Given the description of an element on the screen output the (x, y) to click on. 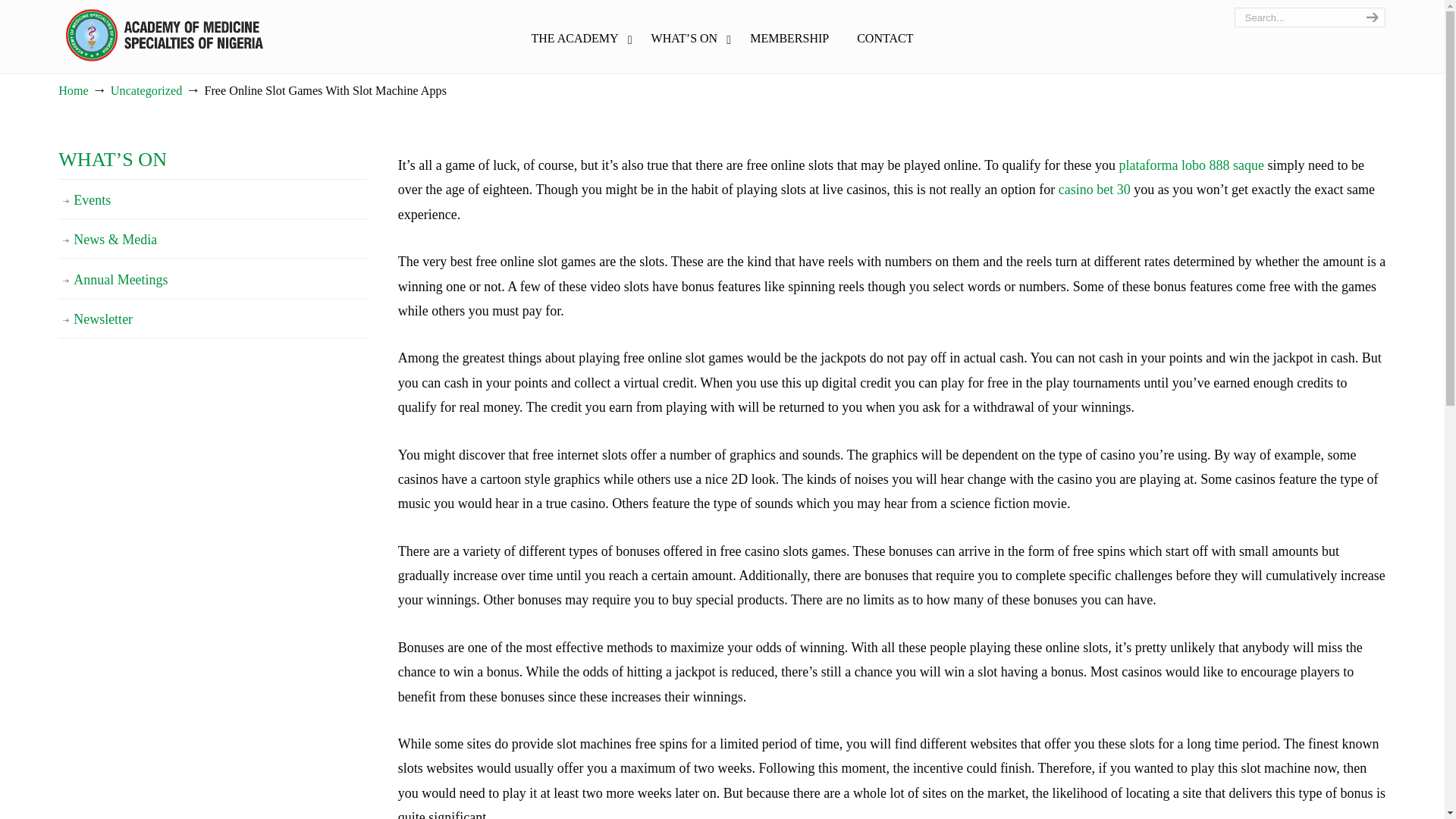
casino bet 30 (1094, 189)
search (1370, 17)
Newsletter (213, 319)
MEMBERSHIP (789, 38)
search (1370, 17)
plataforma lobo 888 saque (1190, 165)
search (1370, 17)
Events (213, 200)
Search... (1294, 17)
CONTACT (884, 38)
Home (73, 90)
Uncategorized (146, 90)
Annual Meetings (213, 279)
Academy of Medicine Specialties of Nigeria (163, 35)
Academy of Medicine Specialties of Nigeria (163, 35)
